Given the description of an element on the screen output the (x, y) to click on. 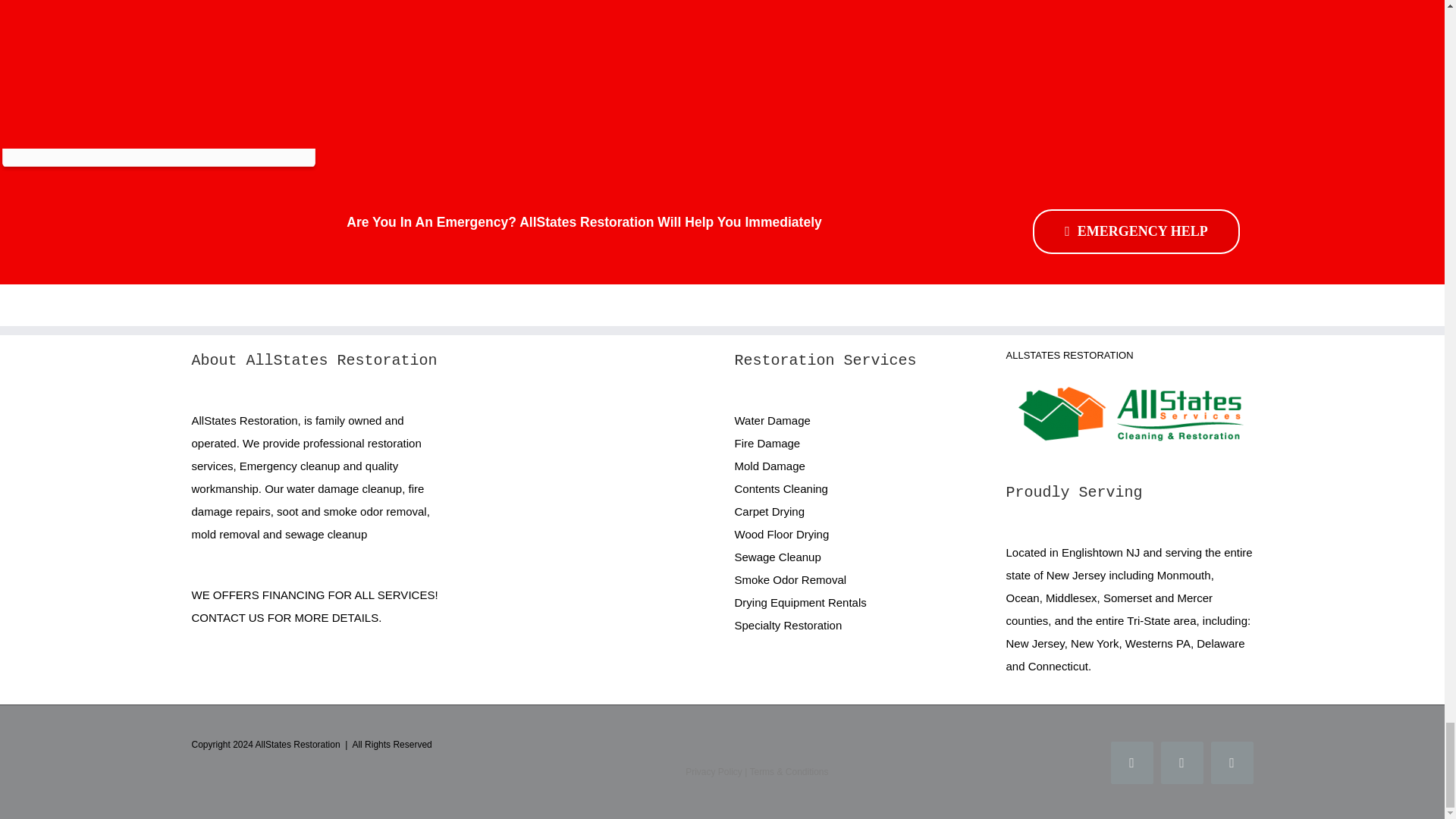
schedule-bottom-box (158, 159)
